Given the description of an element on the screen output the (x, y) to click on. 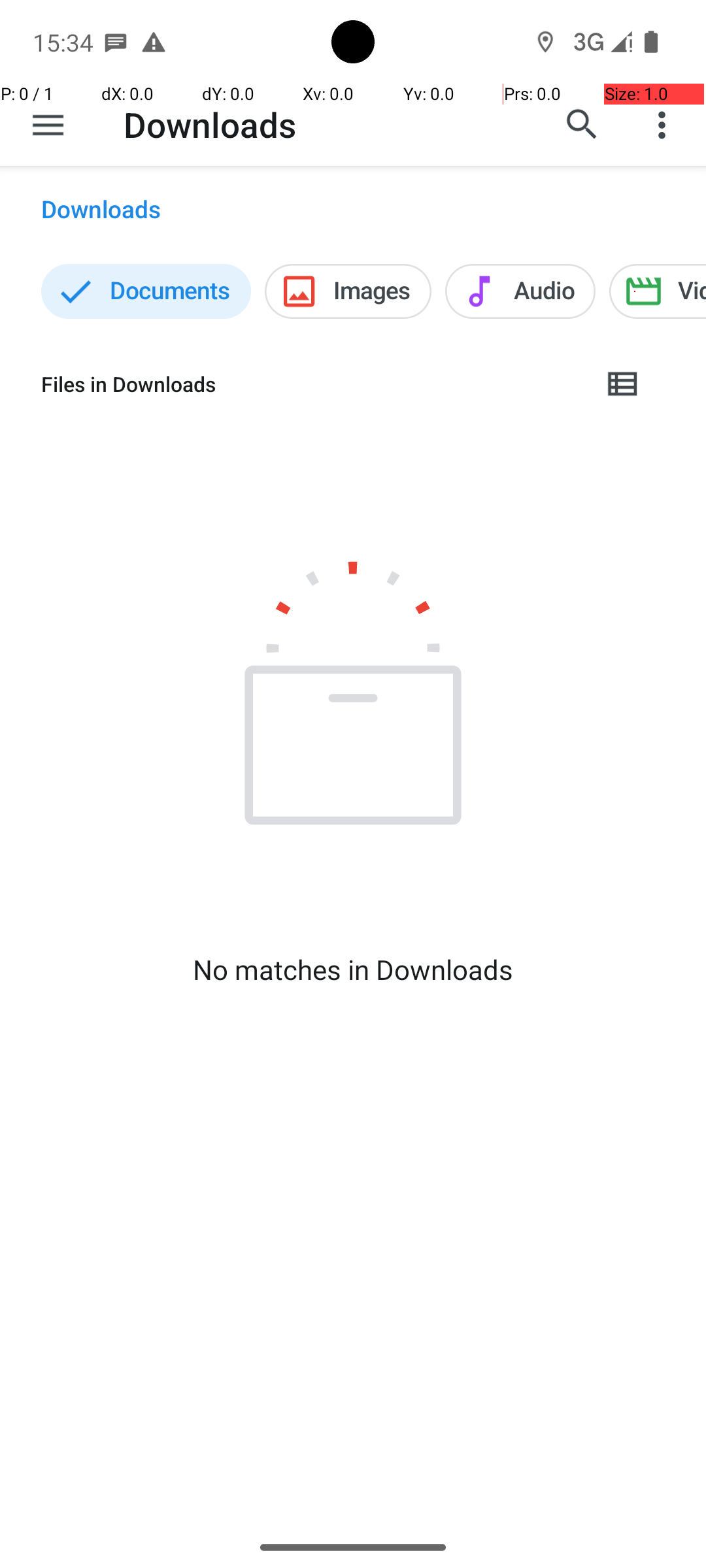
Show roots Element type: android.widget.ImageButton (48, 124)
Downloads Element type: android.widget.TextView (209, 124)
Files in Downloads Element type: android.widget.TextView (311, 383)
List view Element type: android.widget.TextView (622, 384)
Documents Element type: android.widget.CompoundButton (146, 291)
Images Element type: android.widget.CompoundButton (347, 291)
Audio Element type: android.widget.CompoundButton (520, 291)
Videos Element type: android.widget.CompoundButton (657, 291)
No matches in Downloads Element type: android.widget.TextView (352, 968)
